Given the description of an element on the screen output the (x, y) to click on. 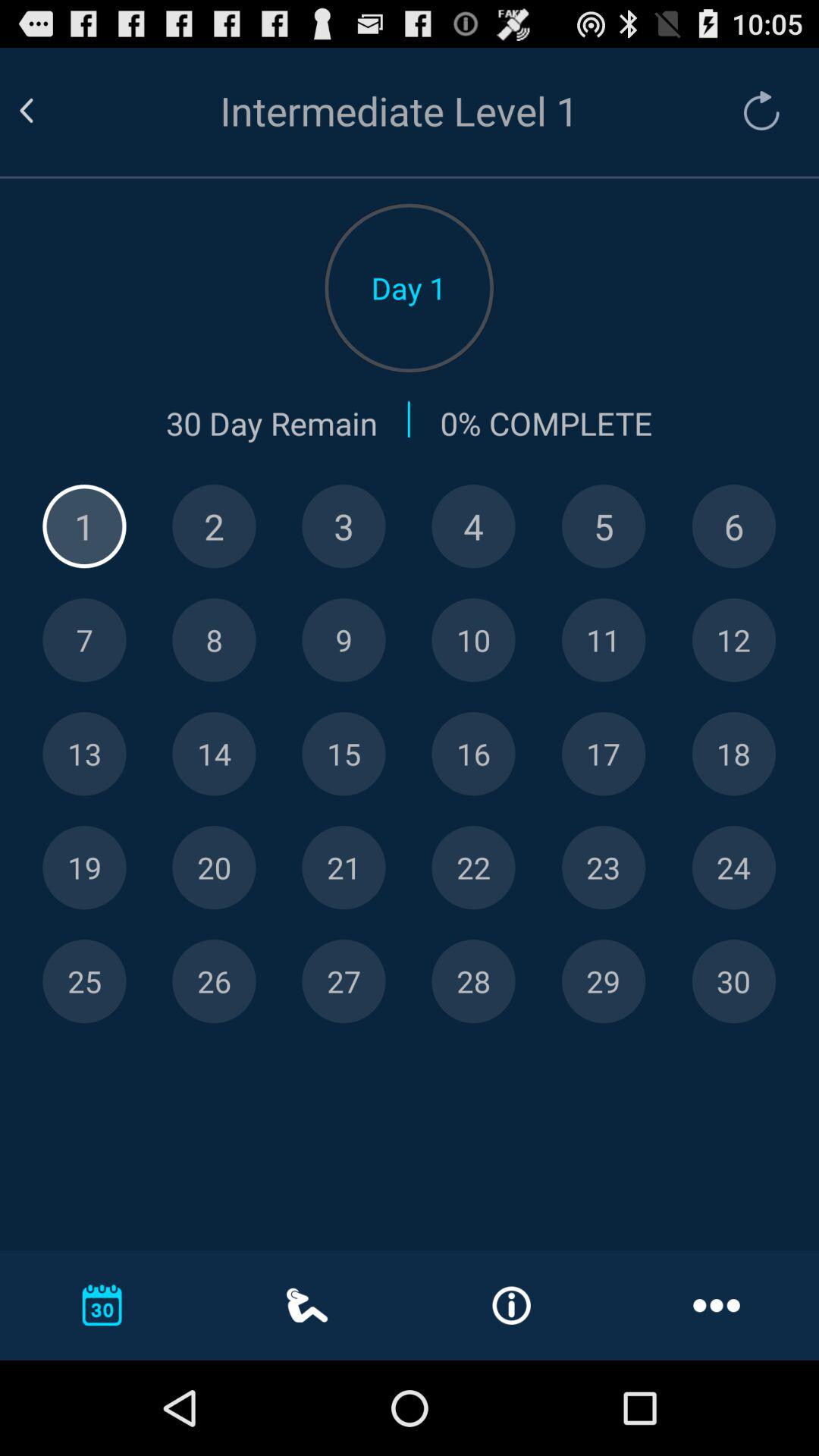
select date (733, 639)
